Given the description of an element on the screen output the (x, y) to click on. 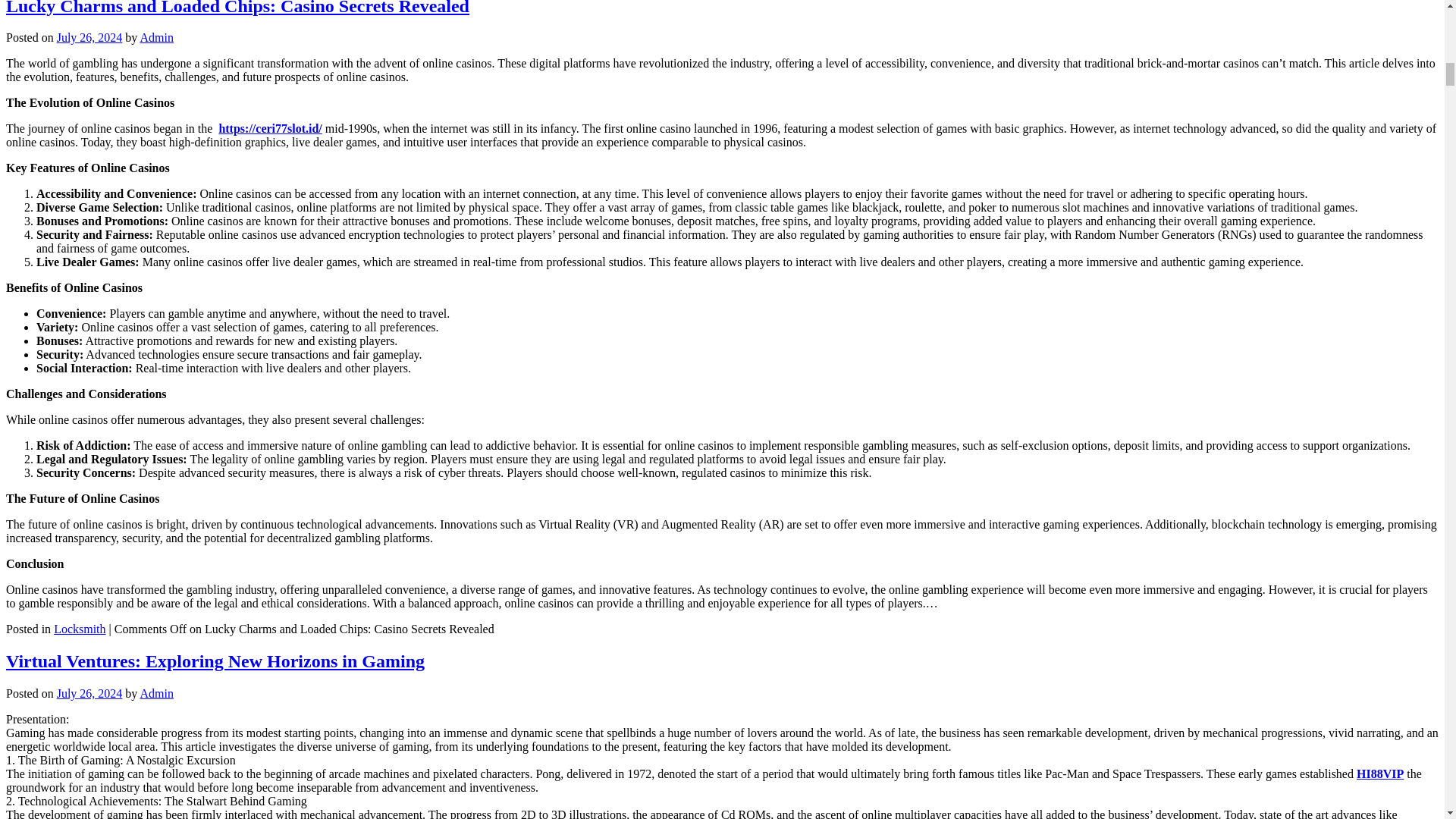
View all posts by Admin (156, 693)
View all posts by Admin (156, 37)
